Given the description of an element on the screen output the (x, y) to click on. 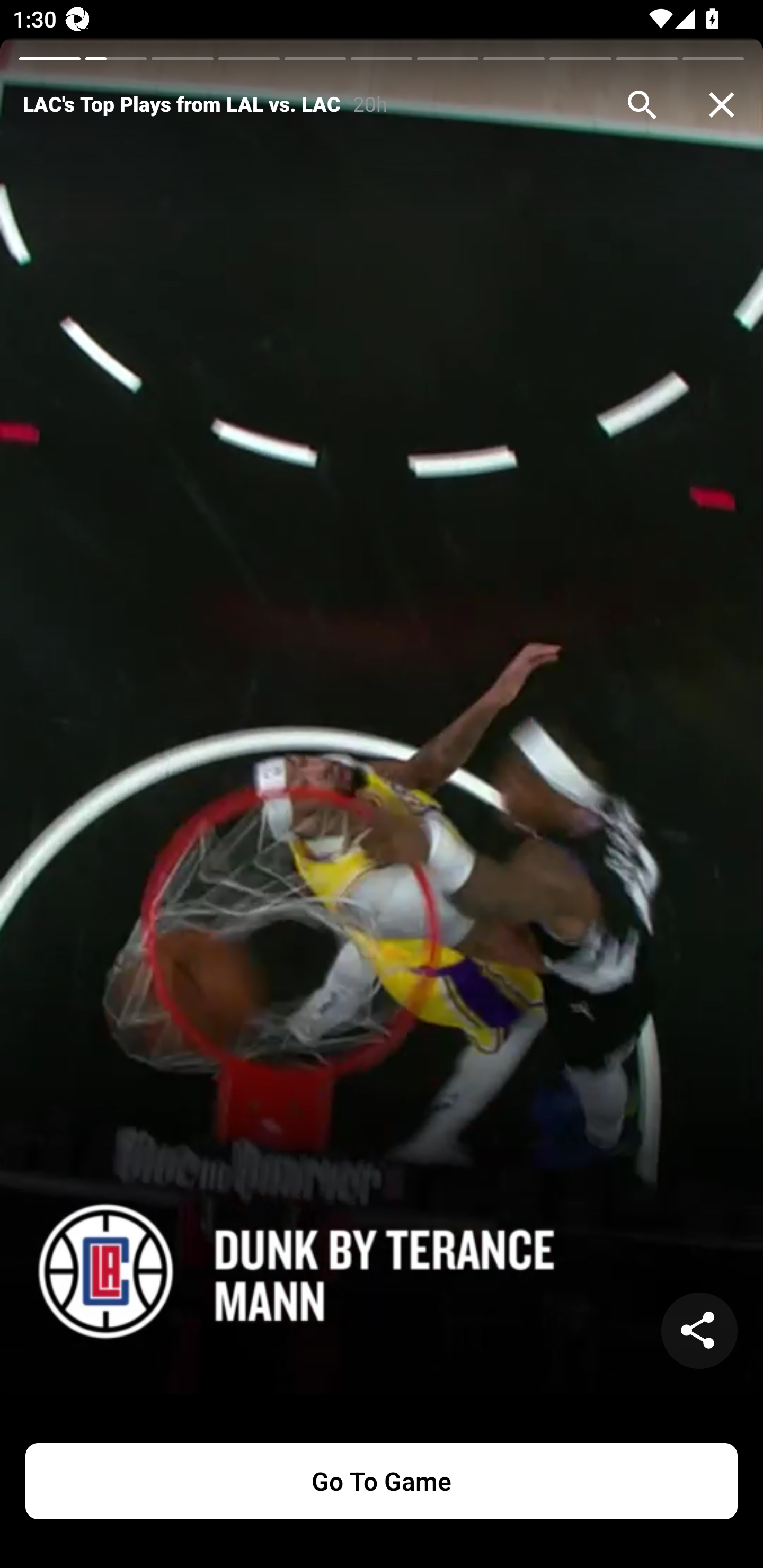
search (642, 104)
close (721, 104)
share (699, 1330)
Go To Game (381, 1480)
